Given the description of an element on the screen output the (x, y) to click on. 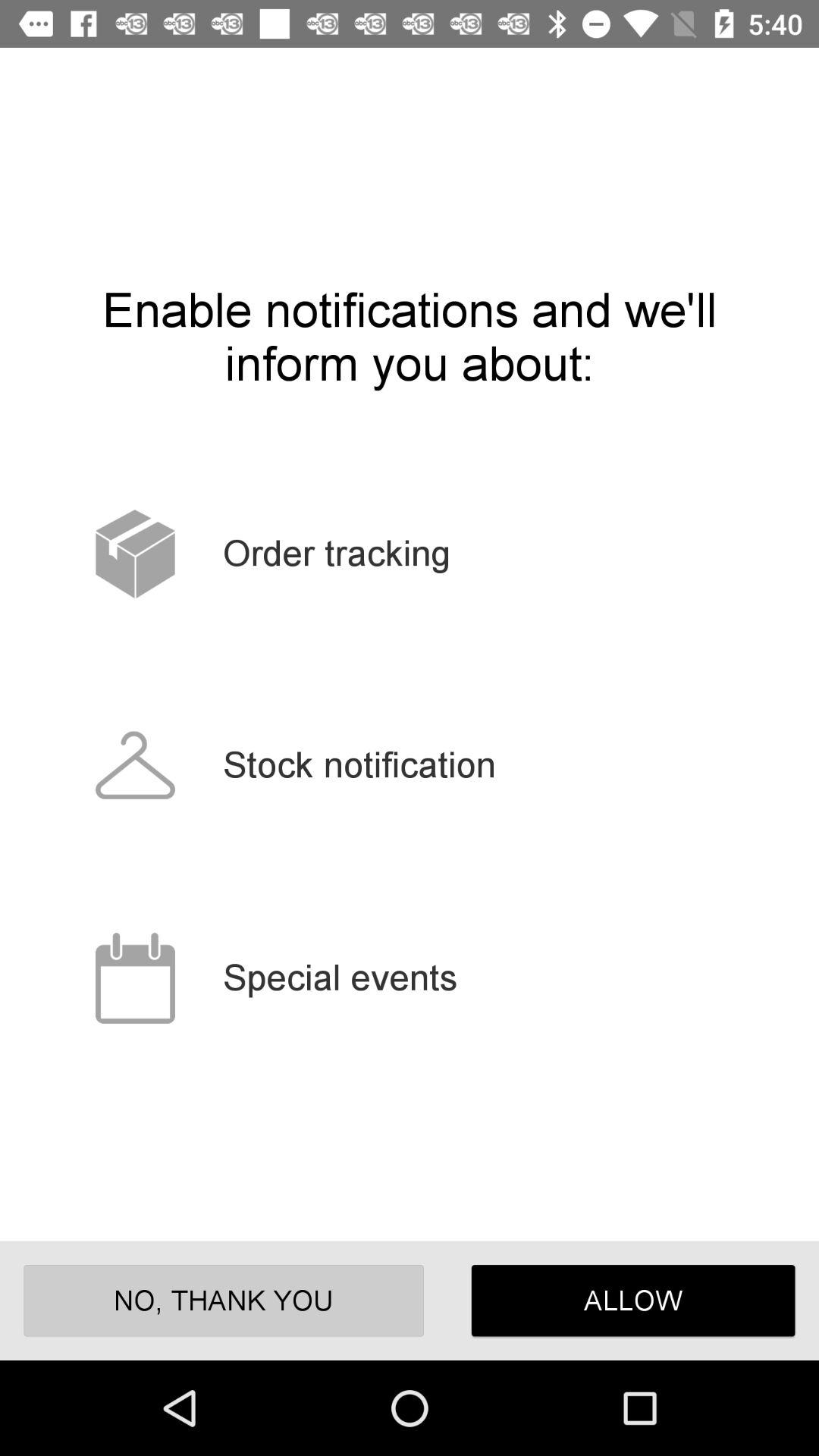
select icon next to the allow (223, 1300)
